Given the description of an element on the screen output the (x, y) to click on. 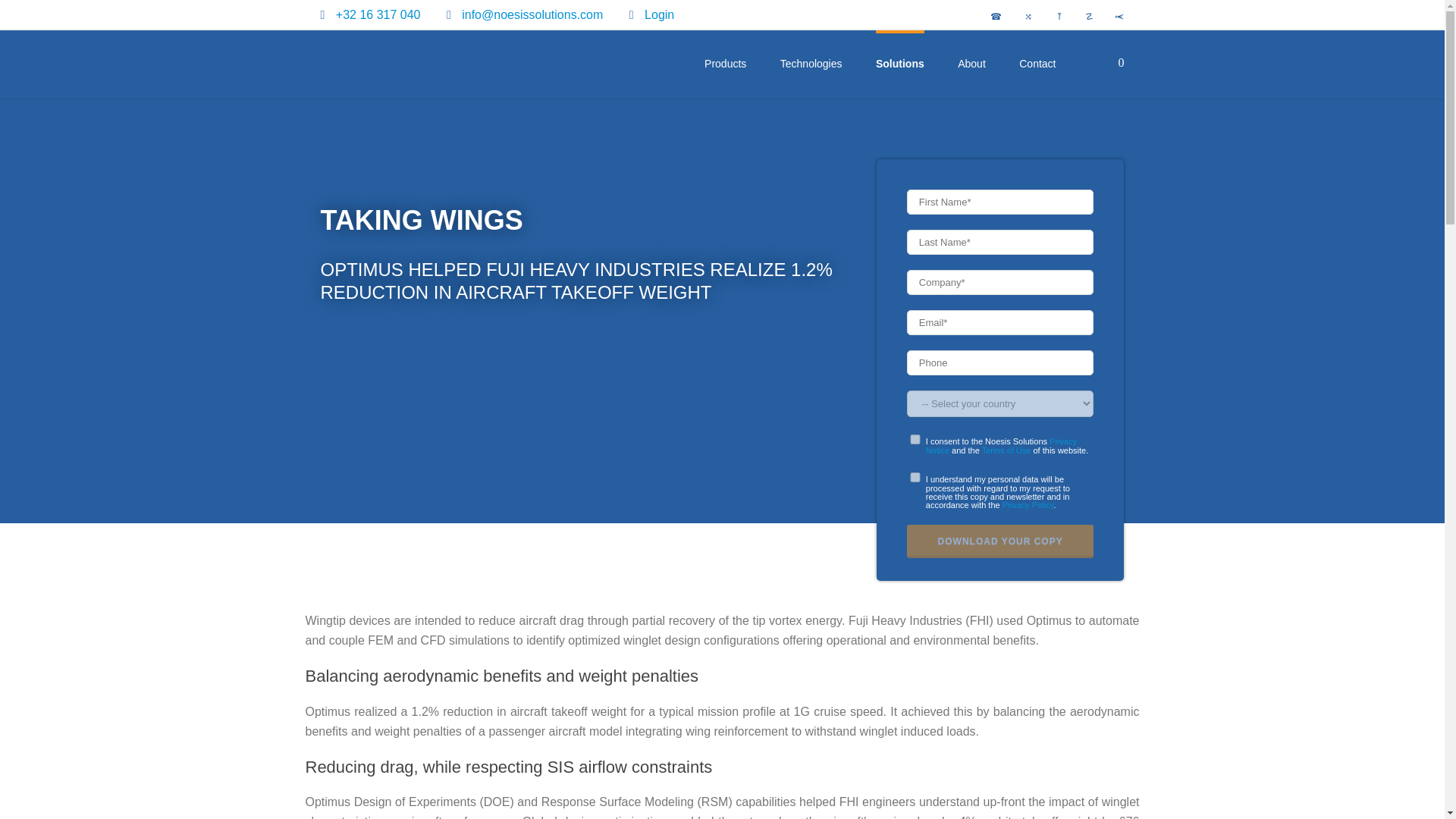
Login (659, 14)
Download your copy (1000, 540)
Twitter (989, 16)
Facebook (1020, 16)
true (915, 477)
LinkedIn (1051, 16)
Youtube (1081, 16)
Technologies (811, 64)
true (915, 439)
RSS (1112, 16)
